Given the description of an element on the screen output the (x, y) to click on. 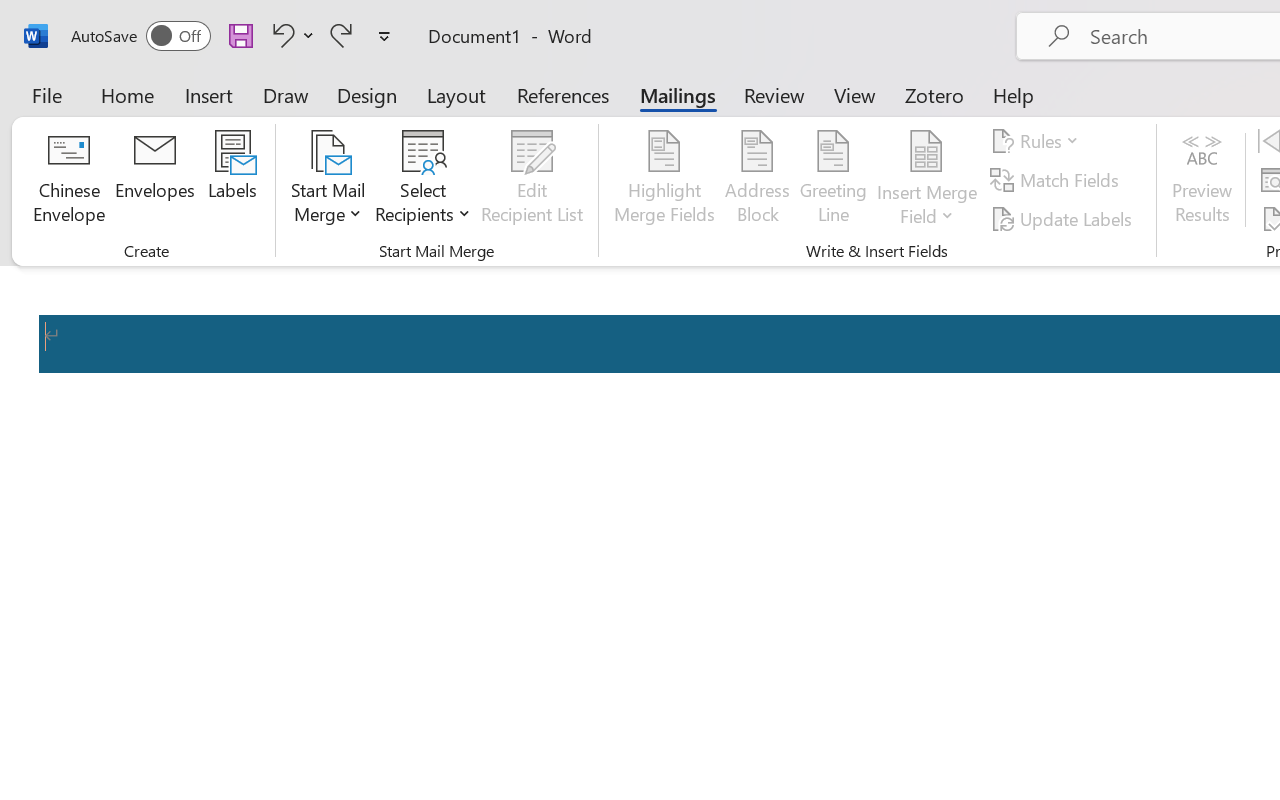
Start Mail Merge (328, 179)
Chinese Envelope... (68, 179)
Insert Merge Field (927, 179)
Greeting Line... (833, 179)
Rules (1037, 141)
Labels... (232, 179)
